Given the description of an element on the screen output the (x, y) to click on. 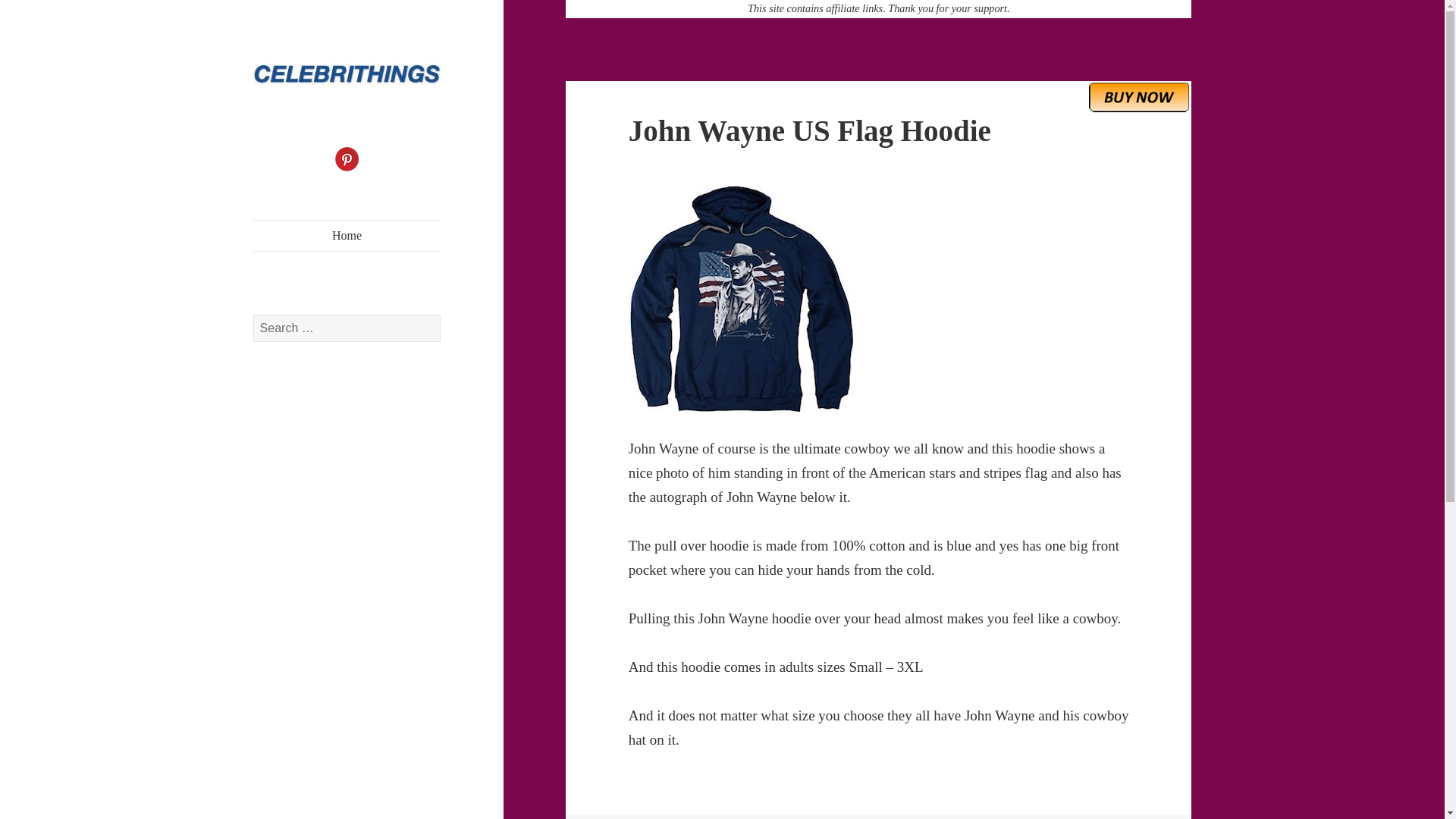
John Wayne hoodie (878, 298)
Home (347, 235)
buy John Wayne US Flag Hoodie (1139, 96)
